Given the description of an element on the screen output the (x, y) to click on. 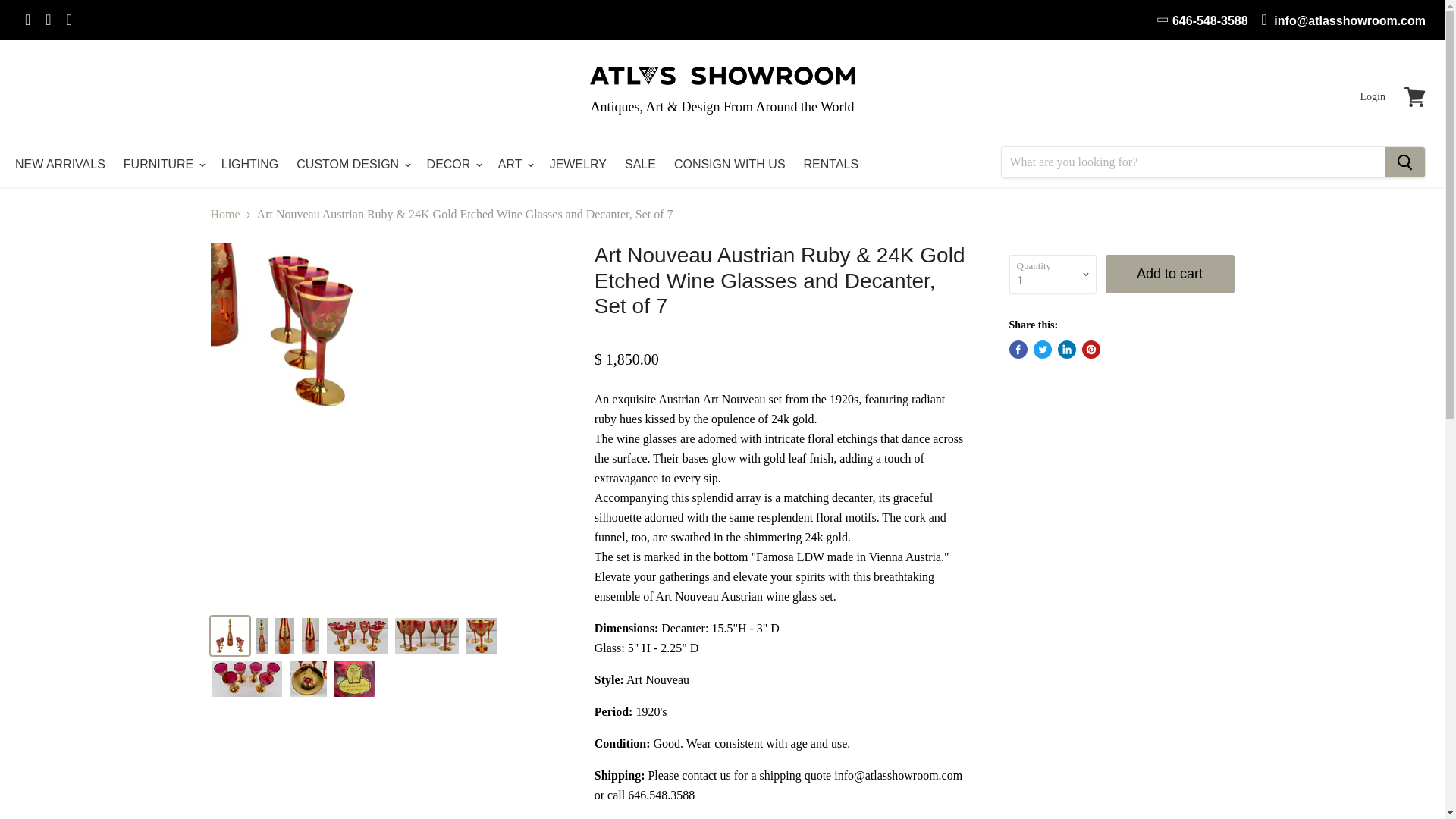
View cart (1414, 96)
Login (1372, 97)
646-548-3588 (1202, 19)
FURNITURE (163, 164)
CUSTOM DESIGN (351, 164)
DECOR (453, 164)
LIGHTING (250, 164)
NEW ARRIVALS (60, 164)
